Given the description of an element on the screen output the (x, y) to click on. 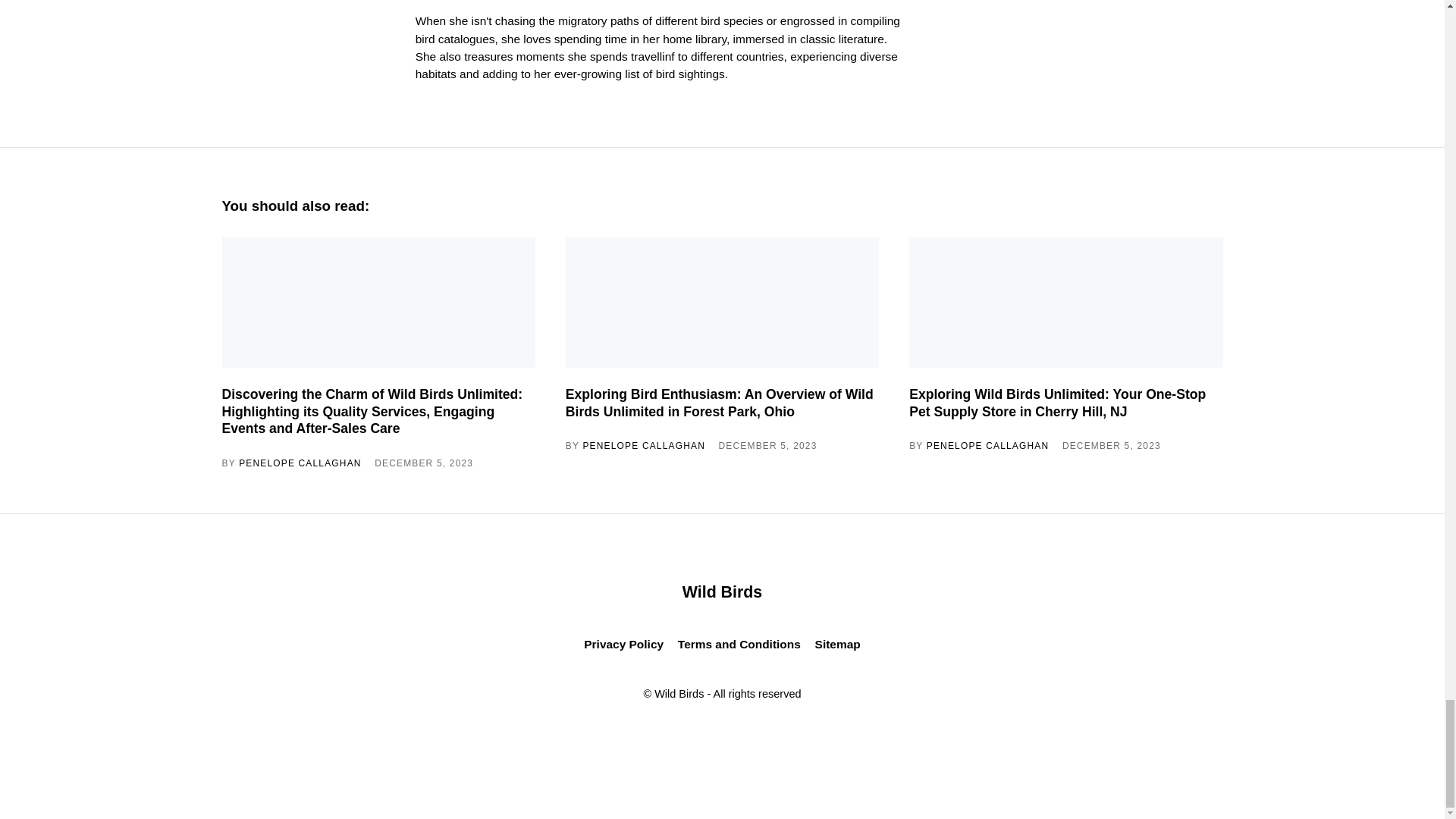
PENELOPE CALLAGHAN (643, 445)
PENELOPE CALLAGHAN (299, 462)
PENELOPE CALLAGHAN (987, 445)
Wild Birds (721, 592)
